Given the description of an element on the screen output the (x, y) to click on. 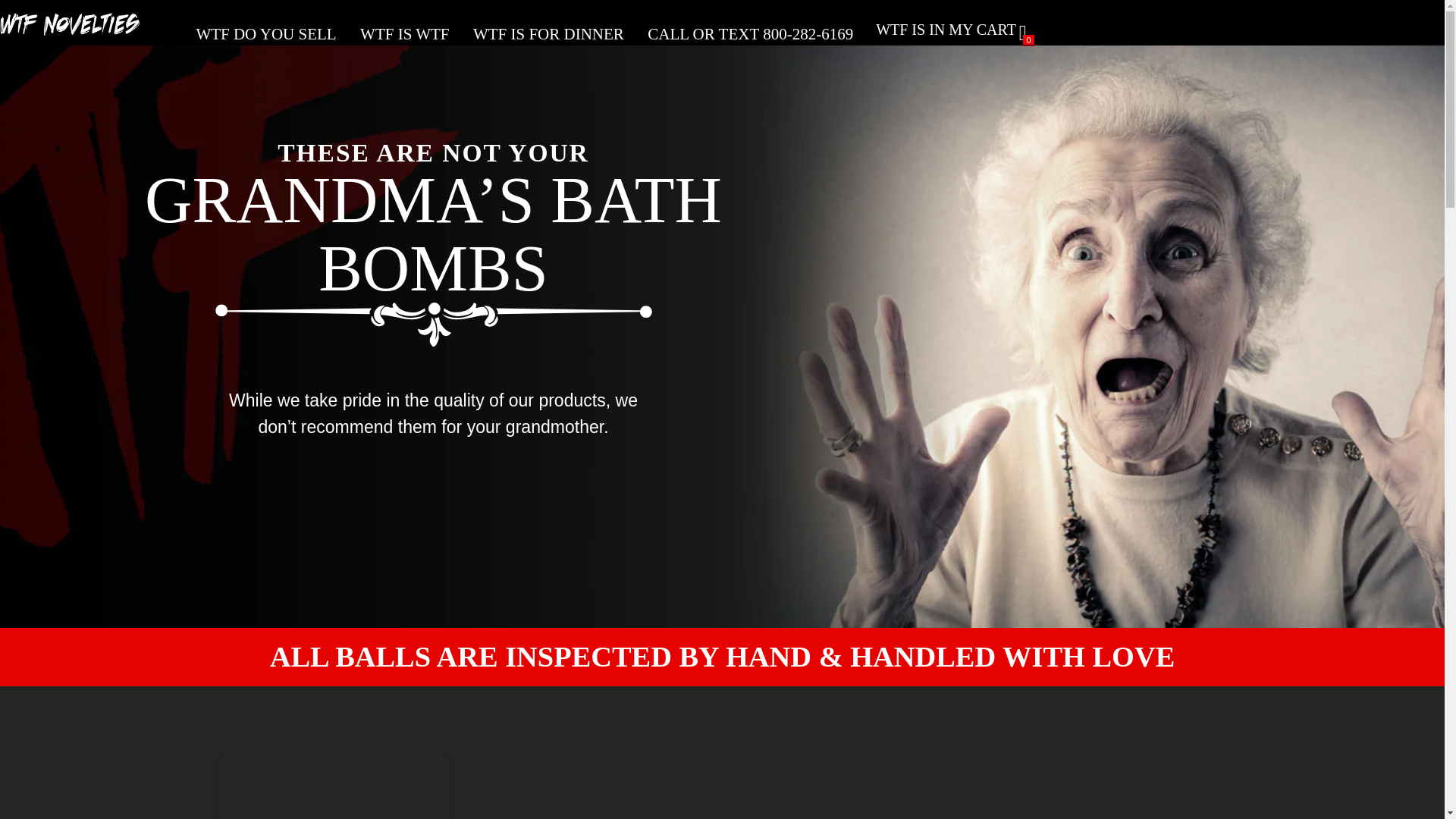
WTF Novelties (76, 29)
